Given the description of an element on the screen output the (x, y) to click on. 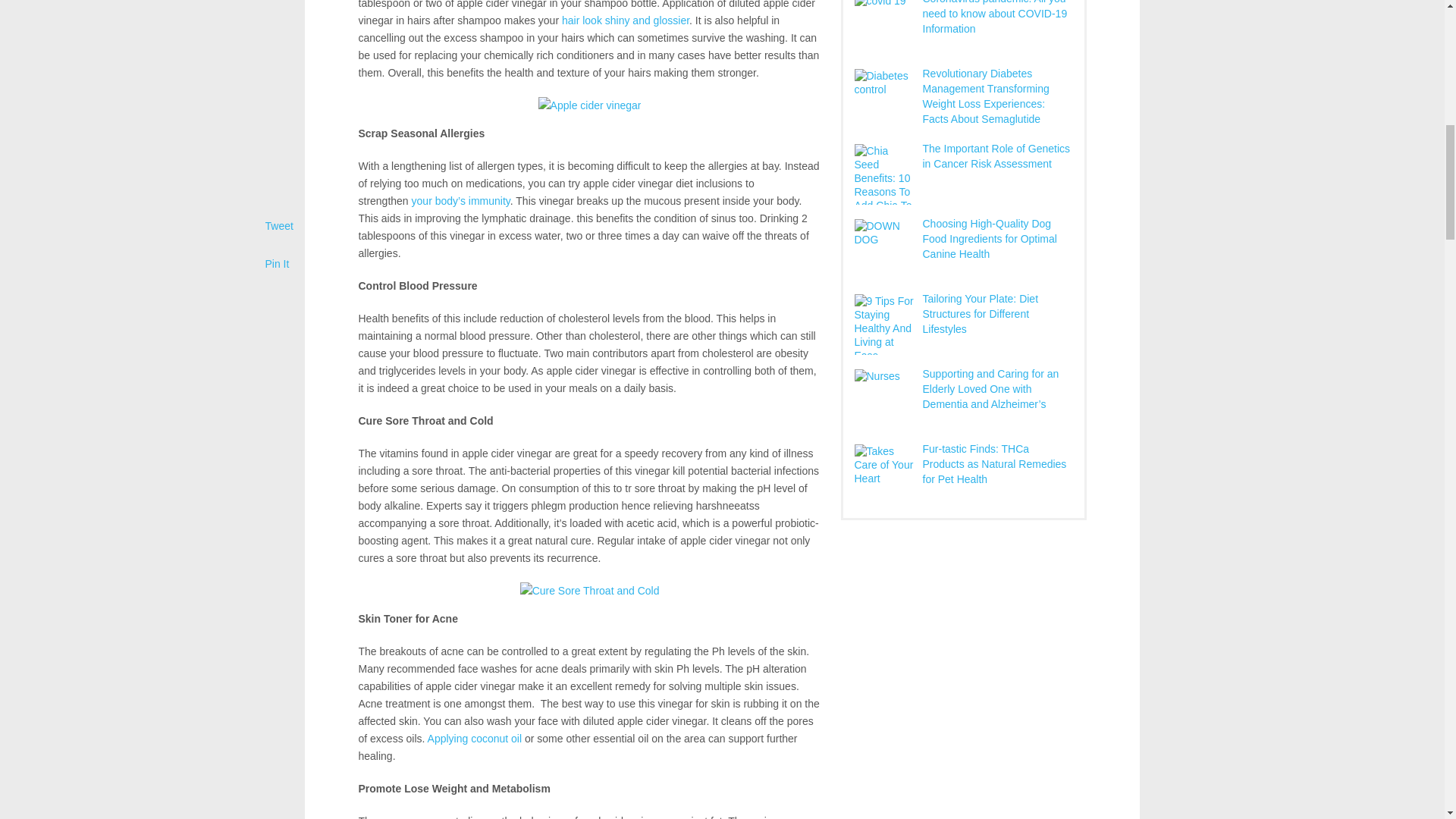
hair look shiny and glossier (625, 20)
